Given the description of an element on the screen output the (x, y) to click on. 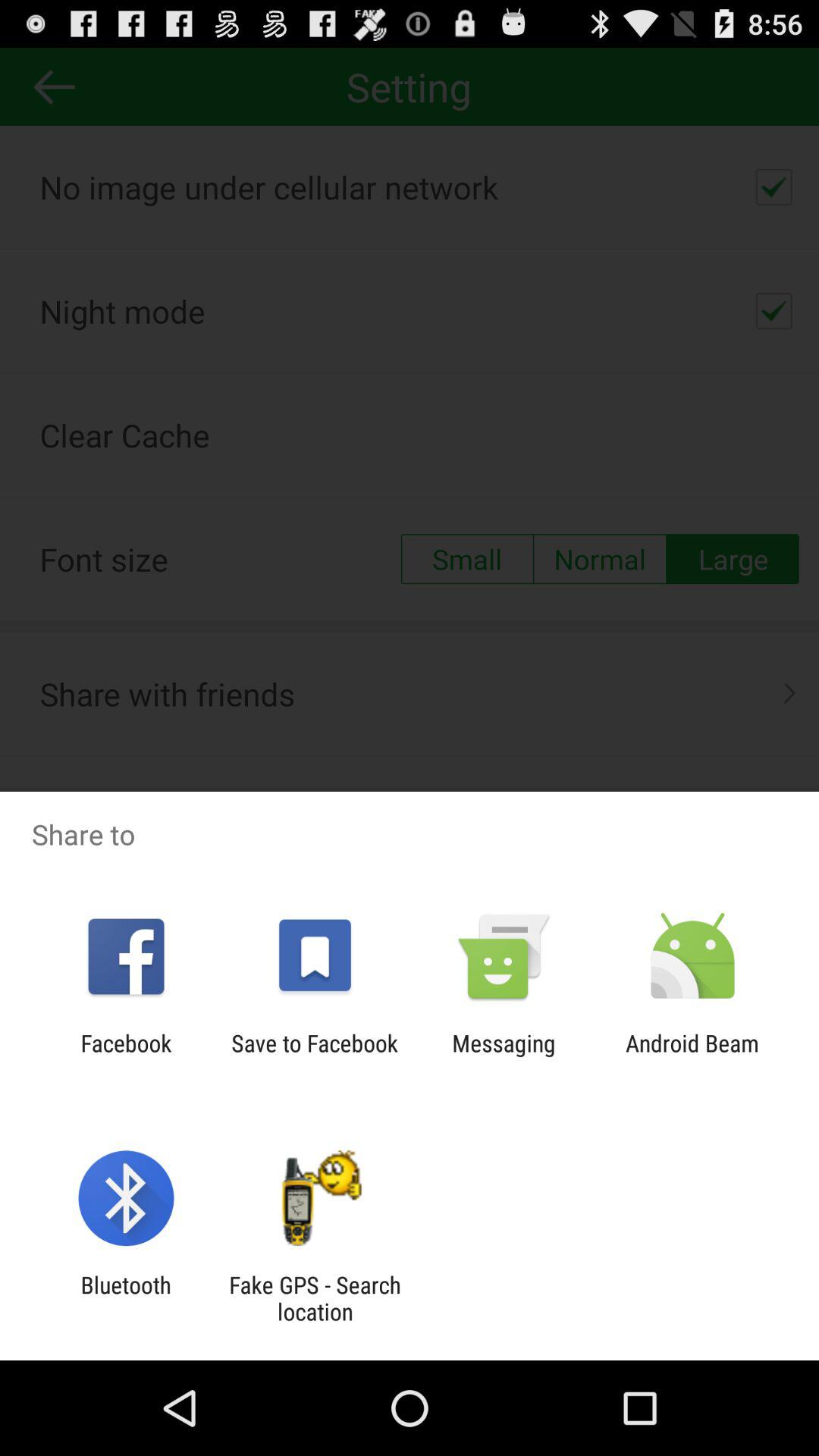
open the messaging (503, 1056)
